Given the description of an element on the screen output the (x, y) to click on. 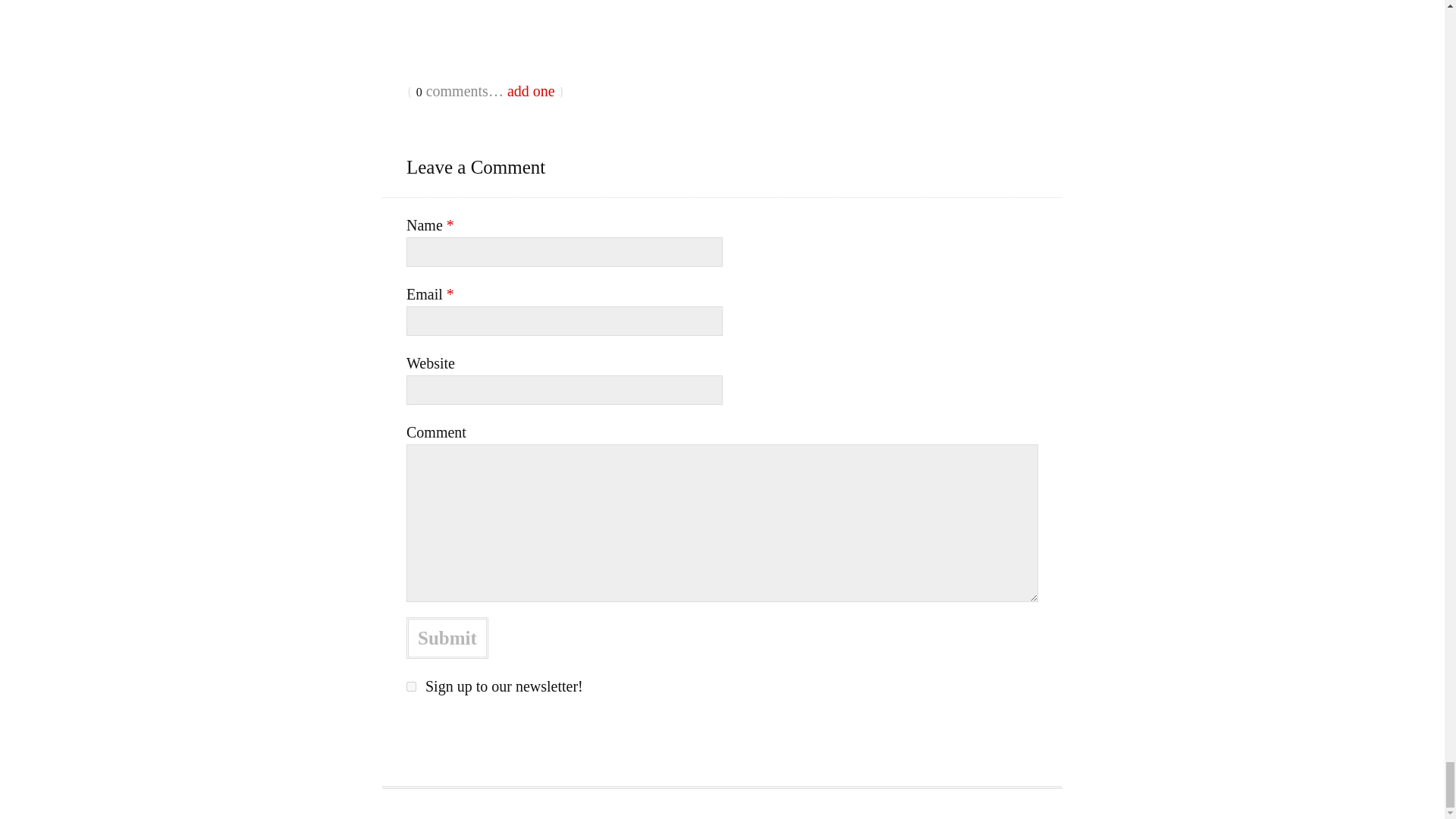
Submit (446, 638)
1 (411, 686)
